Given the description of an element on the screen output the (x, y) to click on. 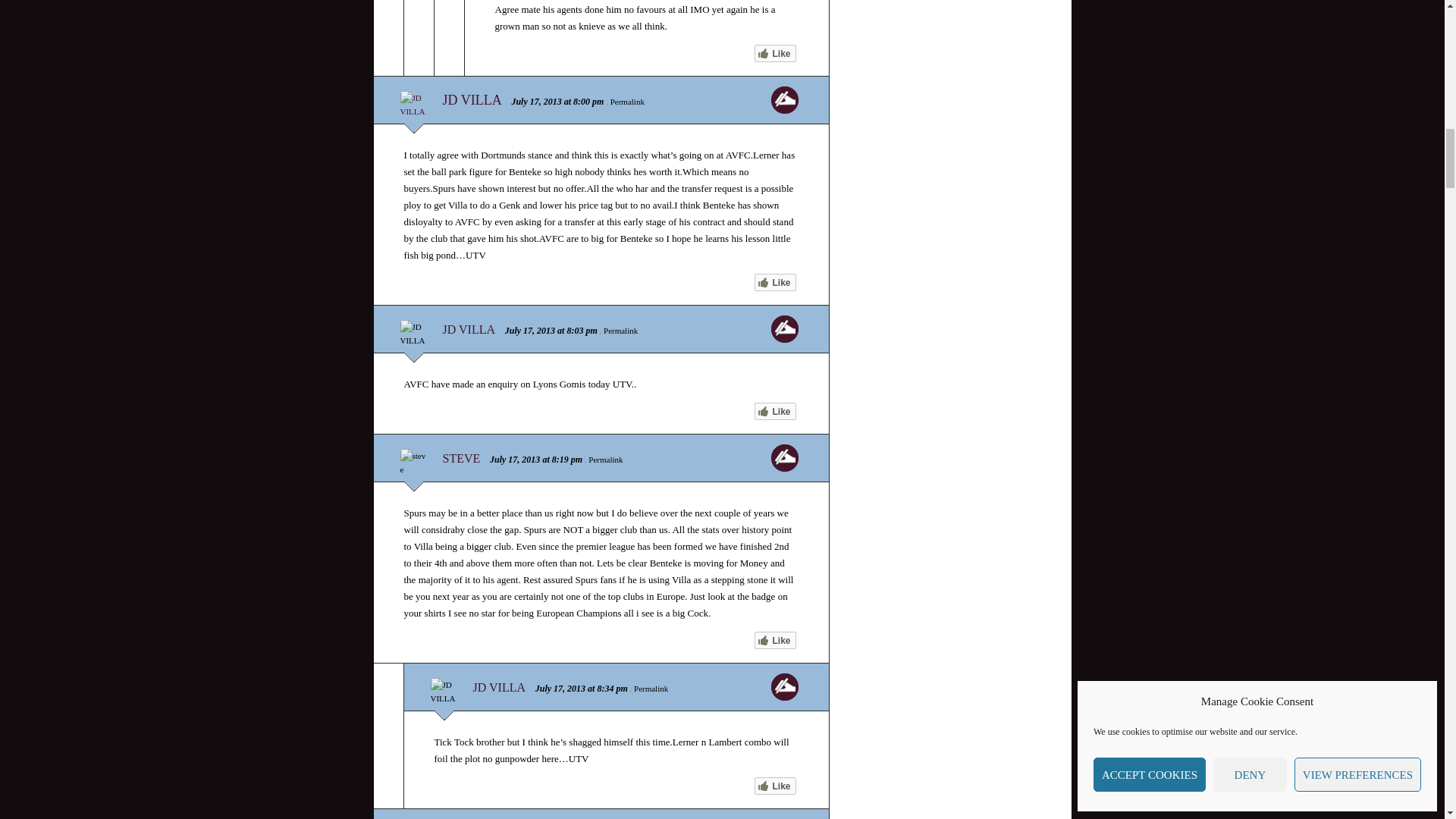
Permalink (627, 101)
JD VILLA (472, 99)
Reply (783, 99)
